Given the description of an element on the screen output the (x, y) to click on. 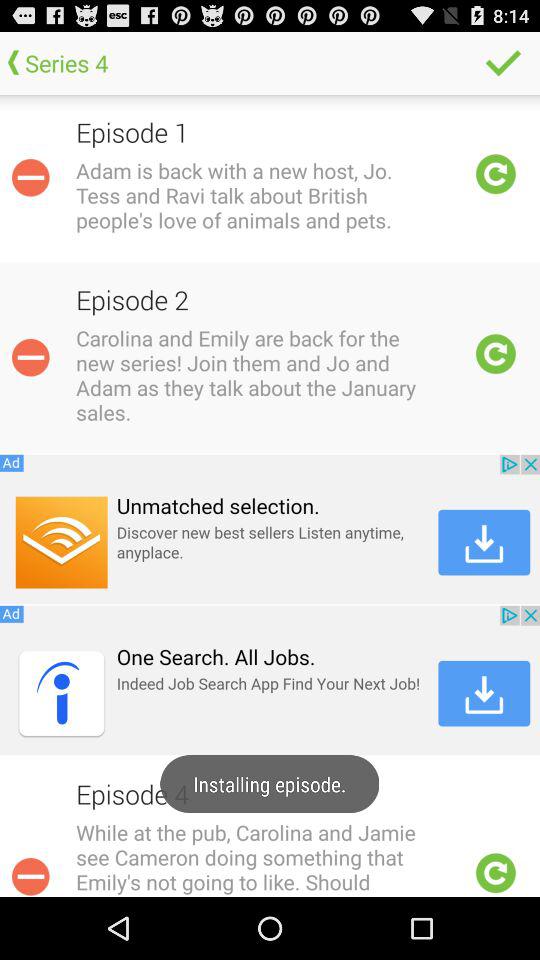
reloading the option (496, 873)
